Given the description of an element on the screen output the (x, y) to click on. 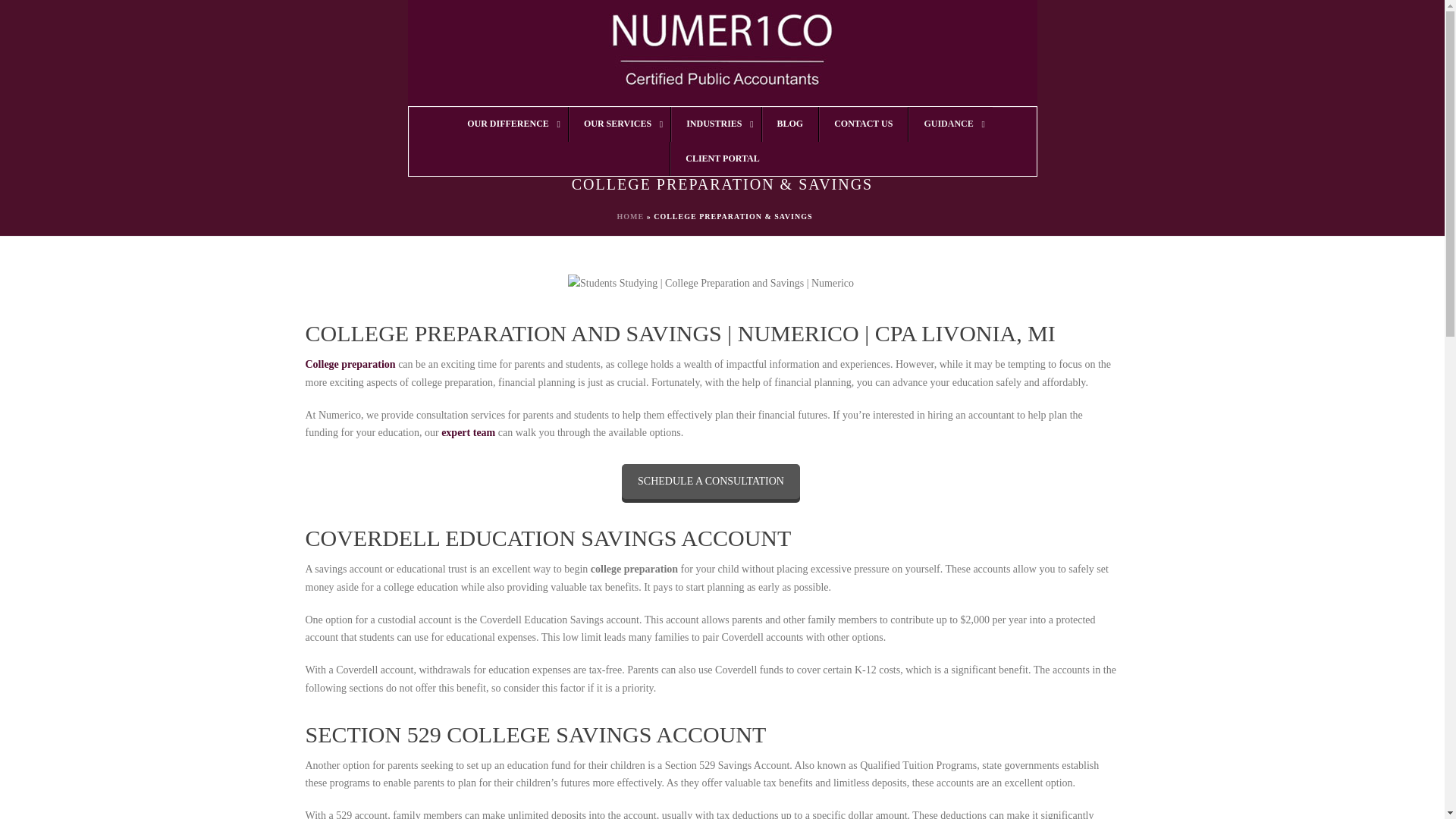
OUR DIFFERENCE (509, 124)
OUR SERVICES (618, 124)
Contact Us (710, 481)
NUMER1CO (721, 53)
students-studying (710, 282)
INDUSTRIES (714, 124)
